Given the description of an element on the screen output the (x, y) to click on. 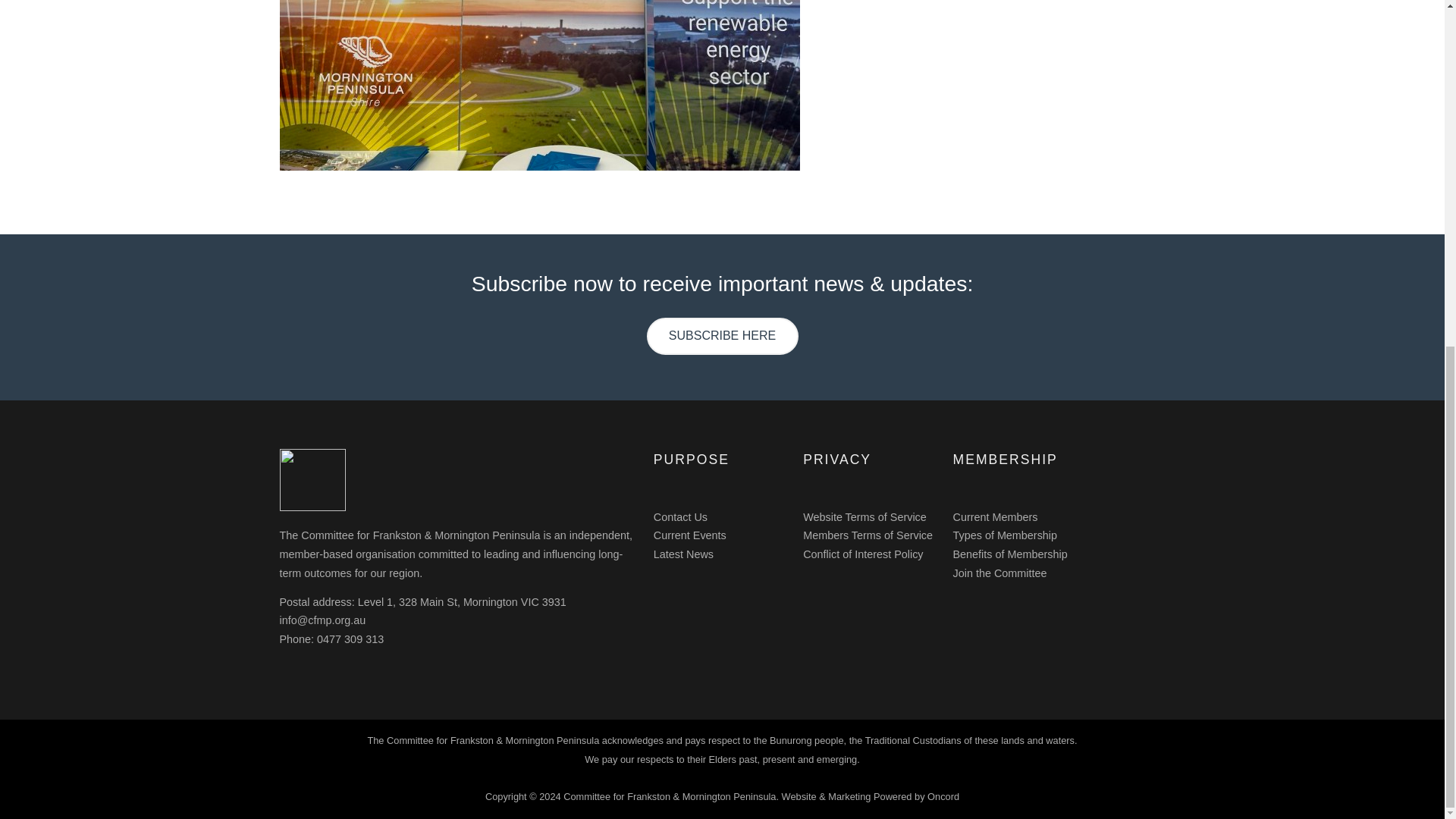
SUBSCRIBE HERE (721, 335)
Members Terms of Service (868, 535)
Conflict of Interest Policy (863, 553)
Current Events (689, 535)
Latest News (683, 553)
Types of Membership (1004, 535)
Contact Us (680, 517)
Current Members (994, 517)
Website Terms of Service (864, 517)
